Given the description of an element on the screen output the (x, y) to click on. 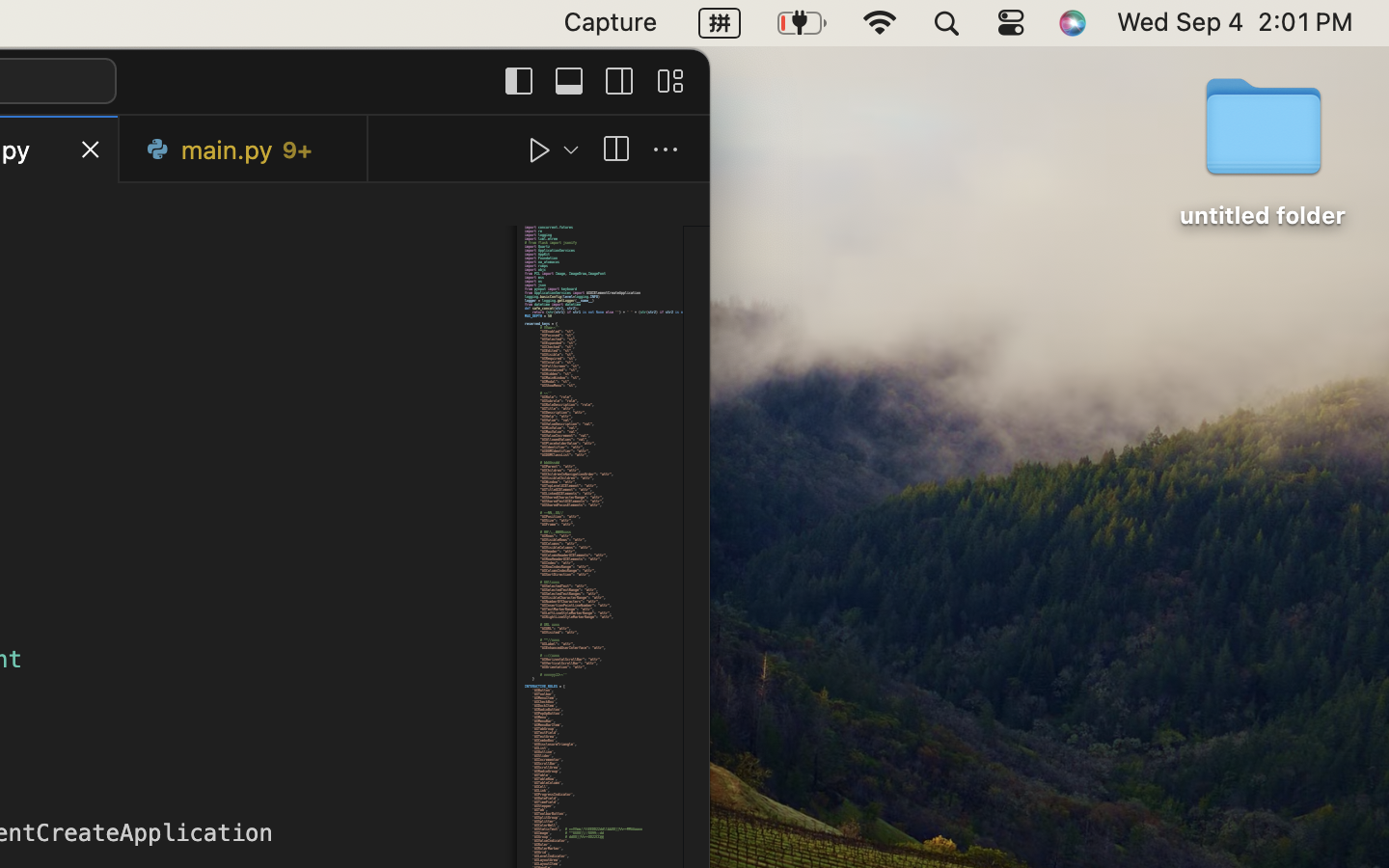
 Element type: AXButton (539, 150)
0 main.py   9+ Element type: AXRadioButton (243, 149)
 Element type: AXCheckBox (518, 80)
 Element type: AXButton (615, 150)
 Element type: AXStaticText (665, 150)
